Given the description of an element on the screen output the (x, y) to click on. 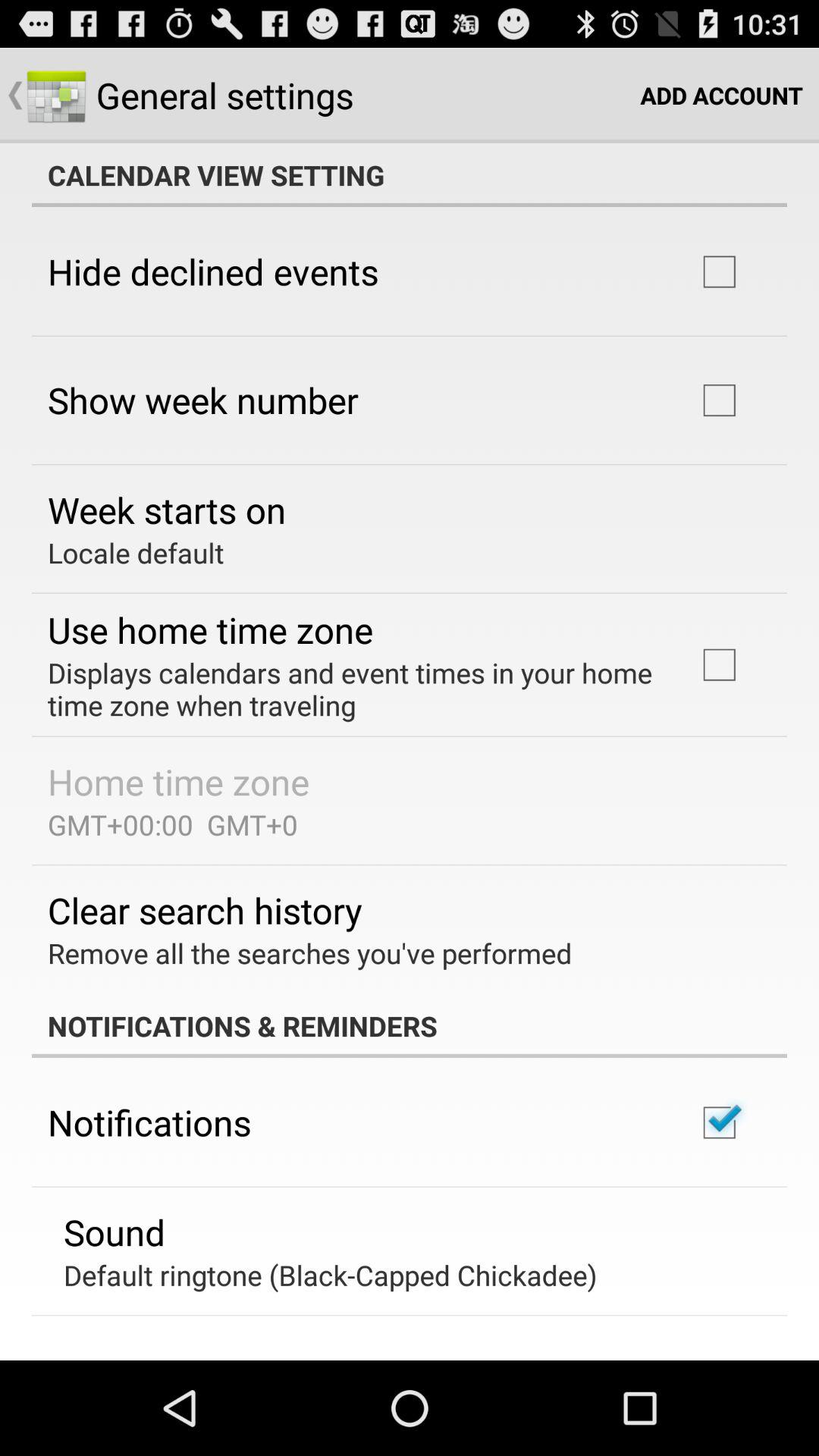
launch the icon below the week starts on (135, 552)
